Given the description of an element on the screen output the (x, y) to click on. 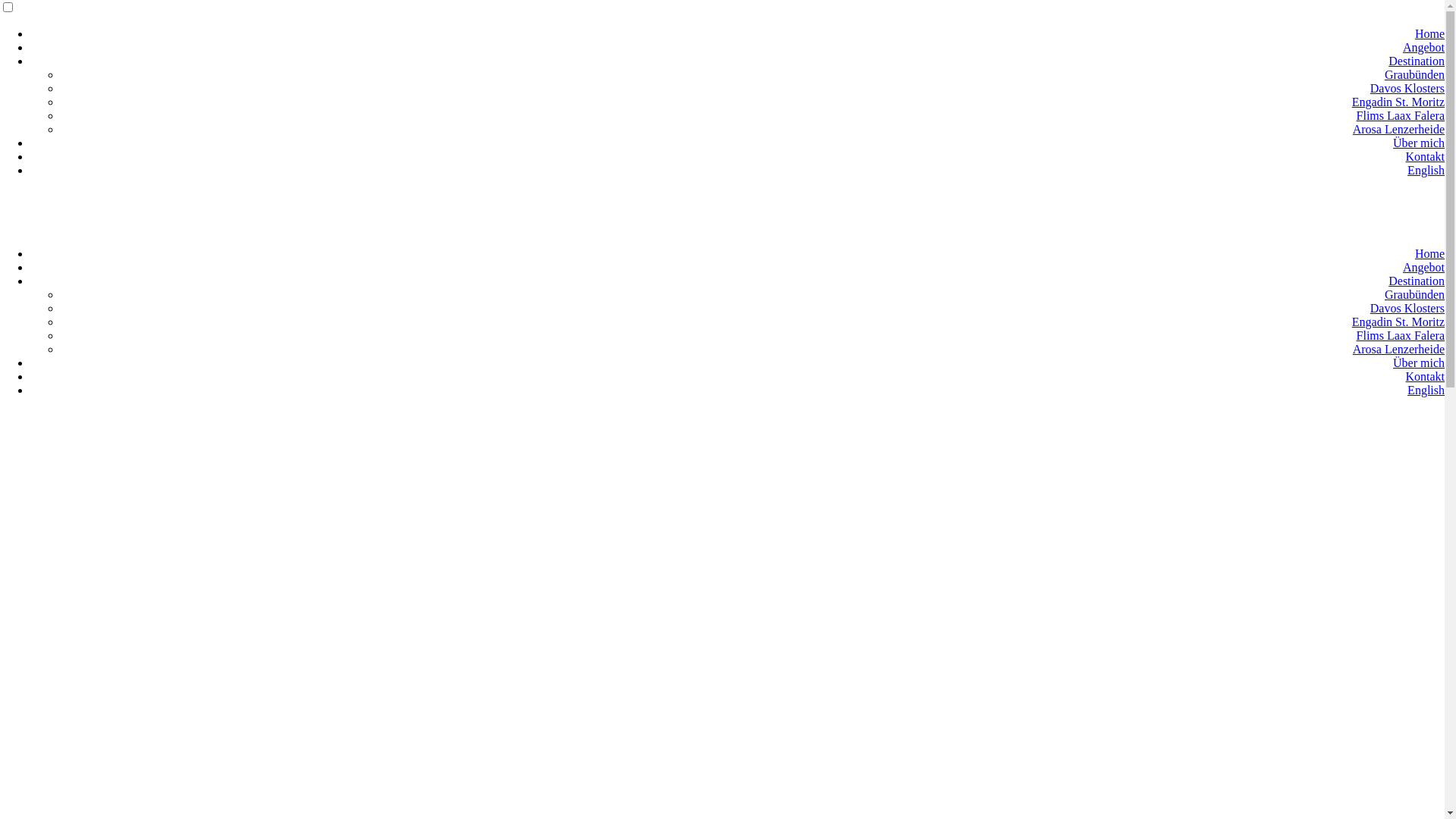
Arosa Lenzerheide Element type: text (1398, 128)
Angebot Element type: text (1423, 46)
Angebot Element type: text (1423, 266)
Kontakt Element type: text (1424, 376)
Home Element type: text (1429, 33)
Destination Element type: text (1416, 60)
Flims Laax Falera Element type: text (1400, 115)
Davos Klosters Element type: text (1407, 87)
Arosa Lenzerheide Element type: text (1398, 348)
Engadin St. Moritz Element type: text (1398, 101)
English Element type: text (1425, 169)
Destination Element type: text (1416, 280)
Davos Klosters Element type: text (1407, 307)
Flims Laax Falera Element type: text (1400, 335)
Engadin St. Moritz Element type: text (1398, 321)
English Element type: text (1425, 389)
Kontakt Element type: text (1424, 156)
Home Element type: text (1429, 253)
